Given the description of an element on the screen output the (x, y) to click on. 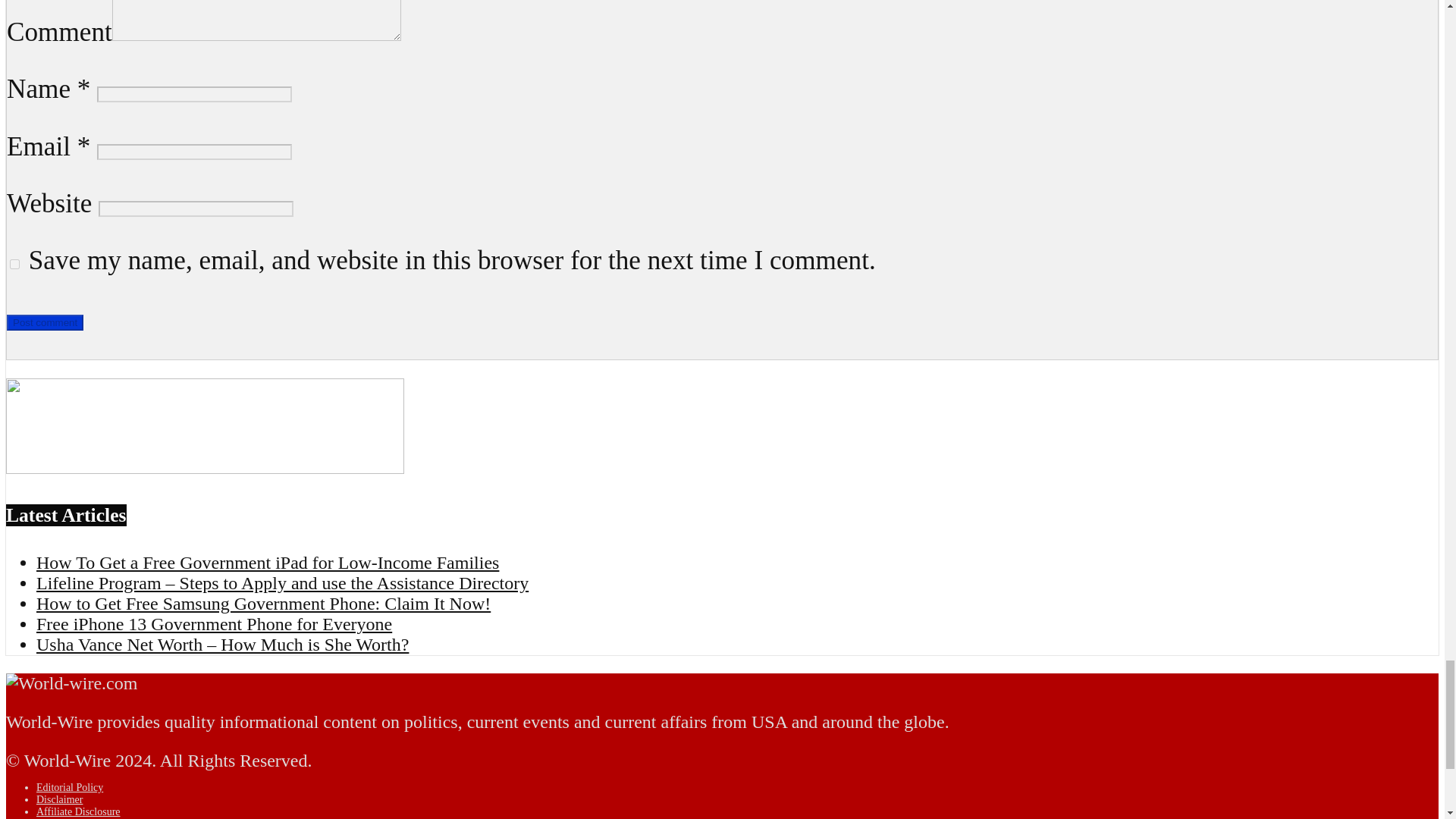
Post comment (44, 322)
yes (15, 264)
